Given the description of an element on the screen output the (x, y) to click on. 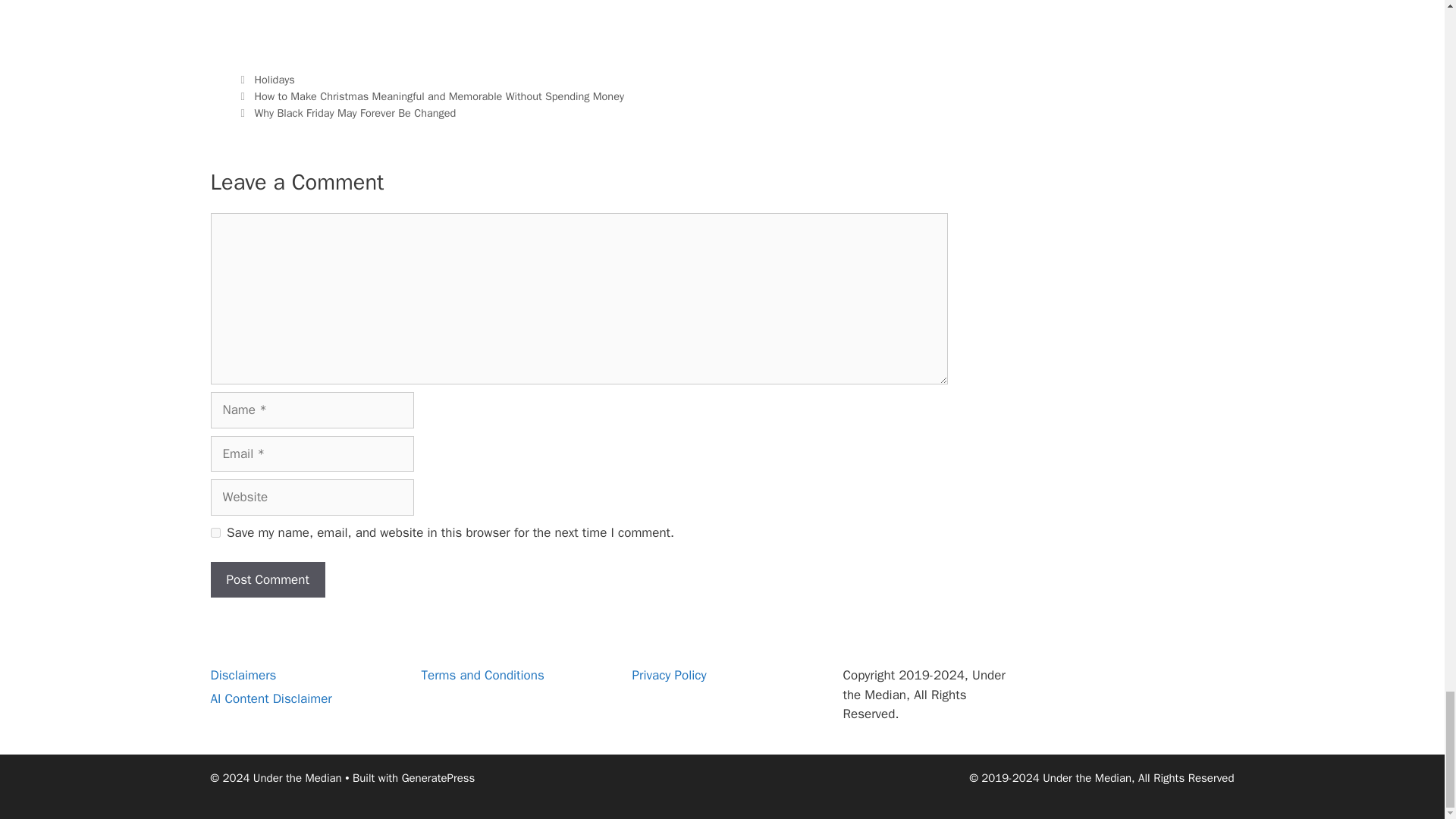
yes (216, 532)
Holidays (273, 79)
Why Black Friday May Forever Be Changed (354, 112)
Post Comment (267, 579)
Post Comment (267, 579)
